Given the description of an element on the screen output the (x, y) to click on. 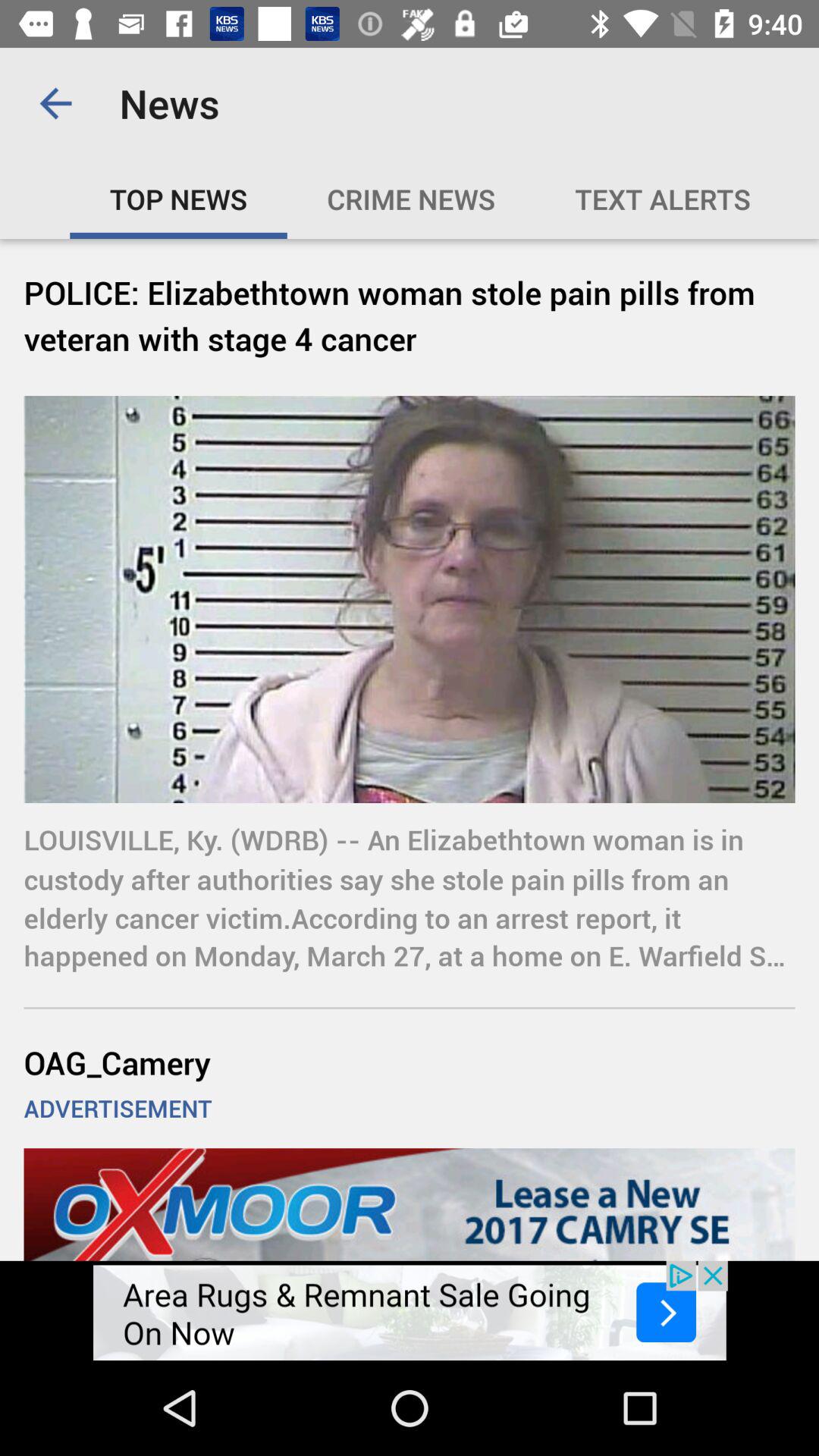
new advertsment (409, 1310)
